Given the description of an element on the screen output the (x, y) to click on. 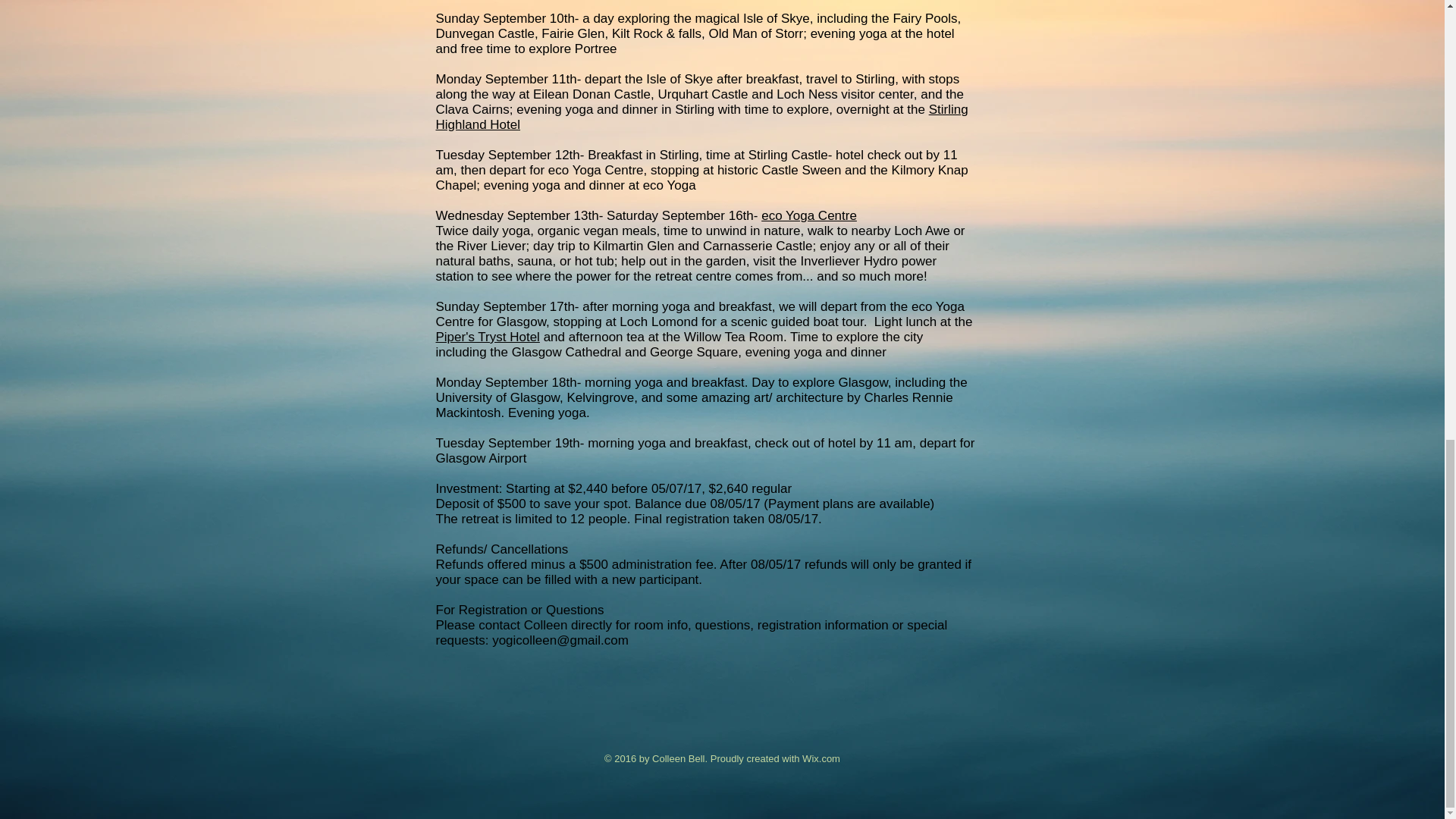
Piper's Tryst Hotel (486, 336)
Stirling Highland Hotel (701, 116)
Wix.com (821, 758)
eco Yoga Centre (809, 215)
